Given the description of an element on the screen output the (x, y) to click on. 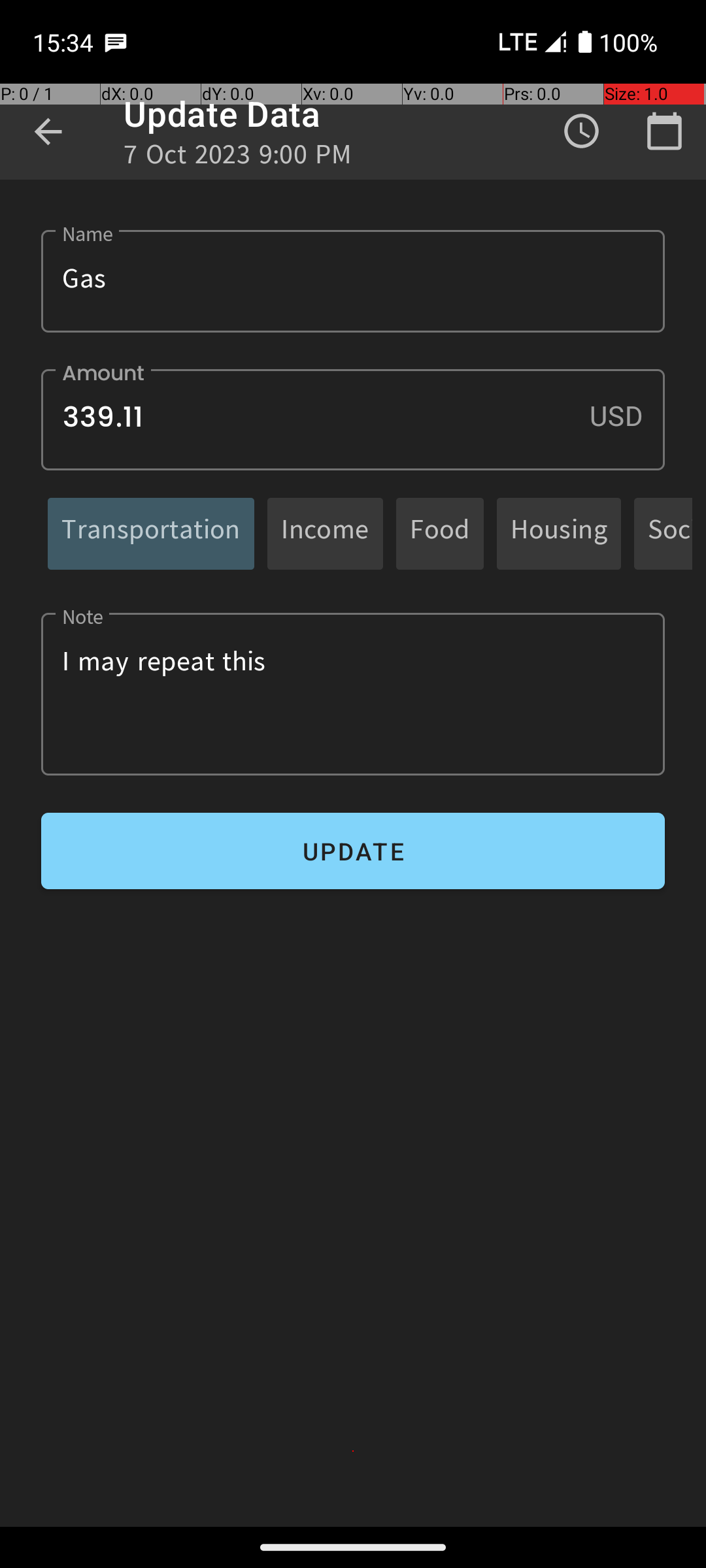
7 Oct 2023 9:00 PM Element type: android.widget.TextView (237, 157)
339.11 Element type: android.widget.EditText (352, 419)
Transportation Element type: android.widget.TextView (150, 533)
